Given the description of an element on the screen output the (x, y) to click on. 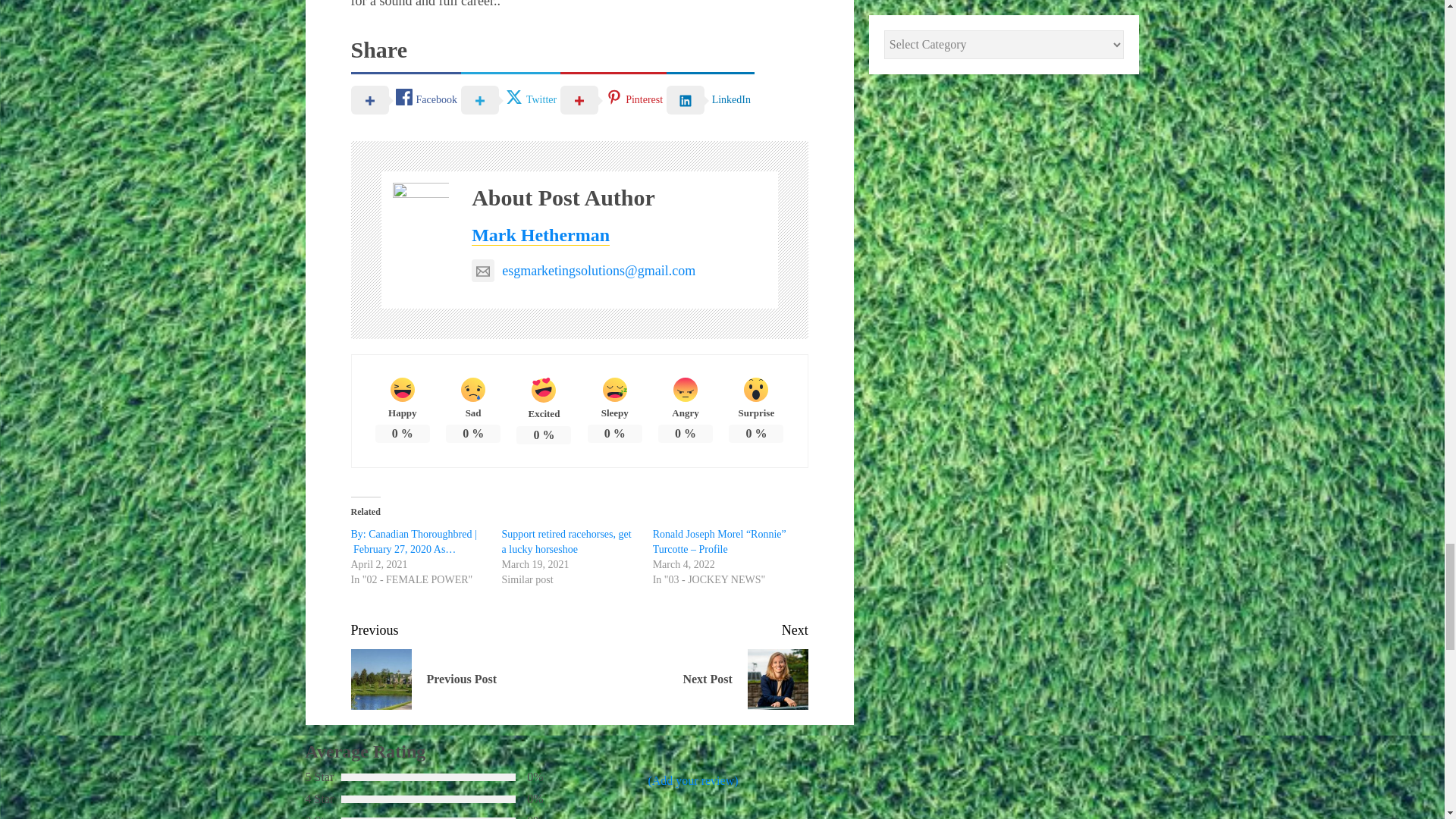
Pinterest (613, 99)
Support retired racehorses, get a lucky horseshoe (566, 541)
Mark Hetherman (540, 235)
Twitter (510, 99)
Facebook (405, 99)
LinkedIn (710, 99)
